Given the description of an element on the screen output the (x, y) to click on. 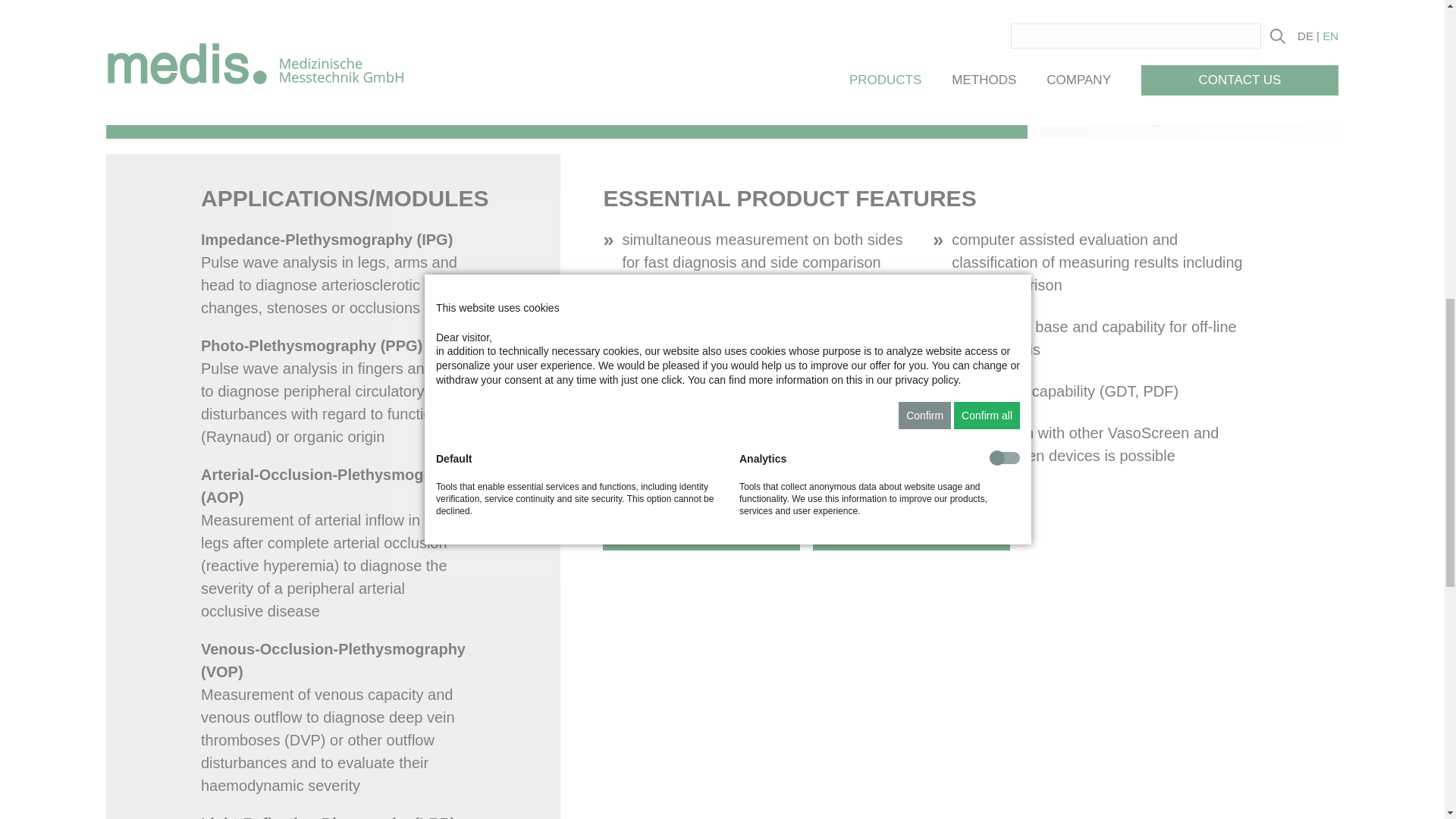
BROCHURE (700, 535)
MANUAL (911, 535)
Manual (911, 535)
Brochure (700, 535)
